Given the description of an element on the screen output the (x, y) to click on. 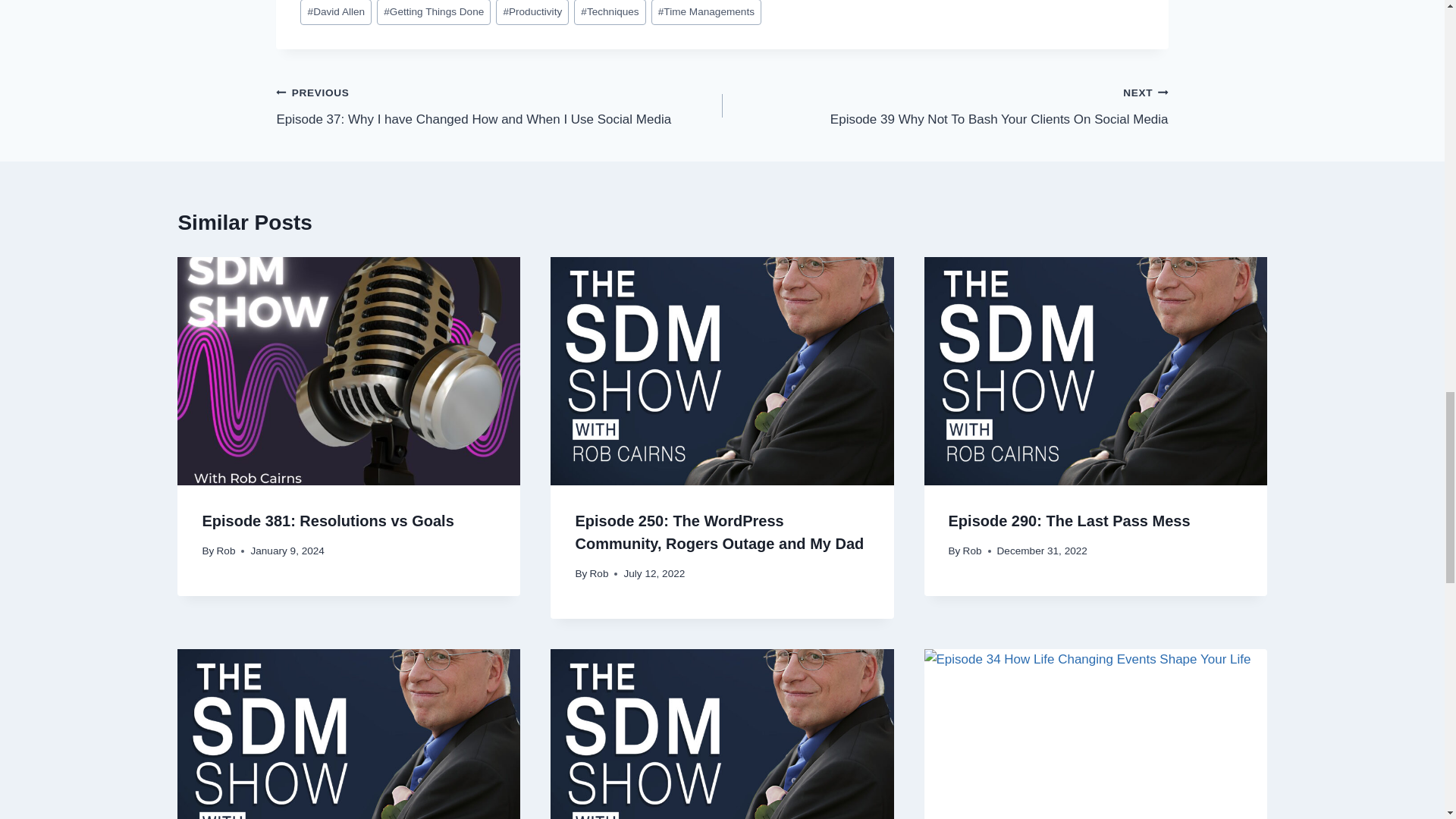
Time Managements (705, 12)
Techniques (609, 12)
Getting Things Done (433, 12)
David Allen (335, 12)
Productivity (532, 12)
